Given the description of an element on the screen output the (x, y) to click on. 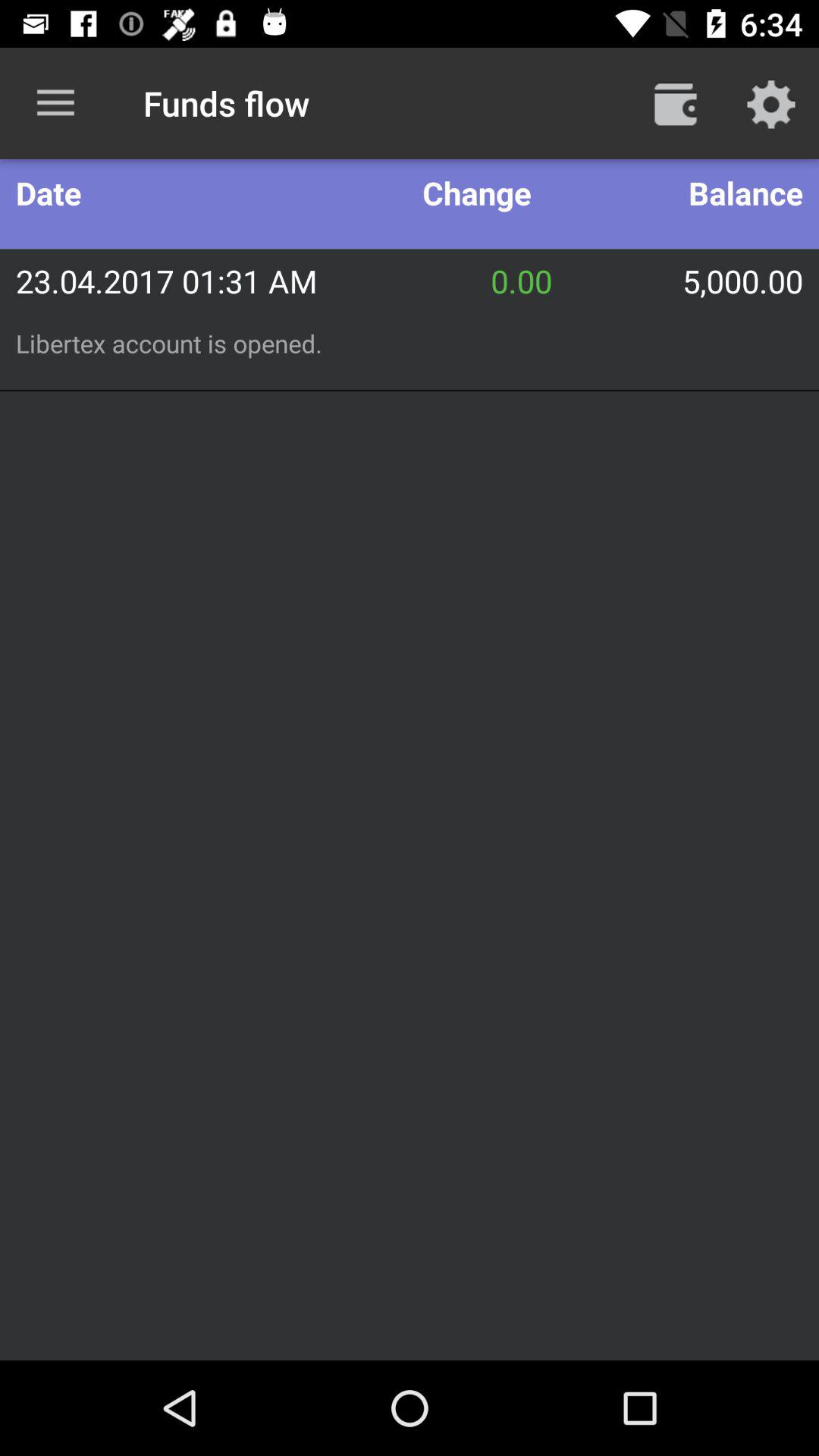
edit information (771, 103)
